Given the description of an element on the screen output the (x, y) to click on. 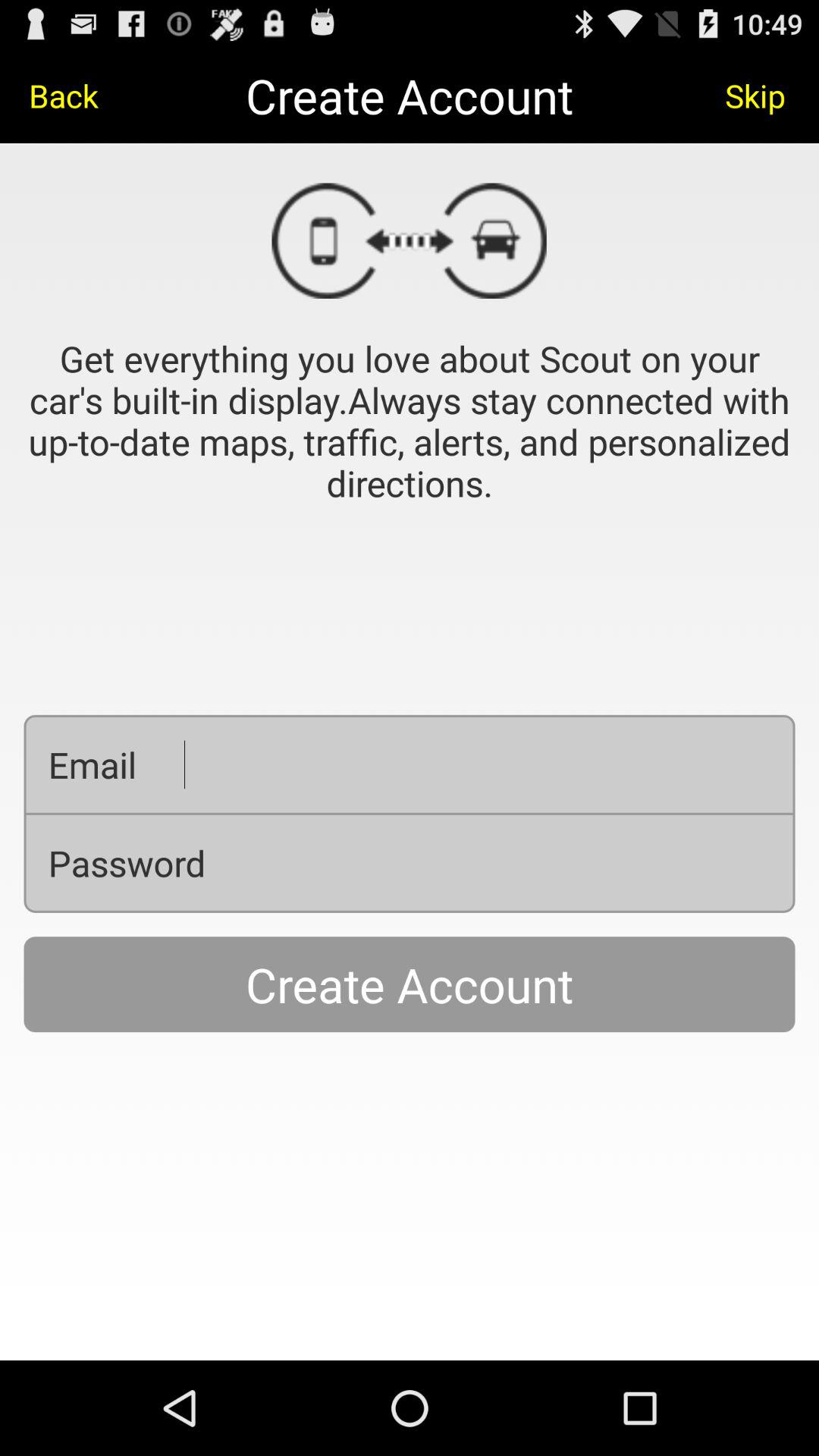
password field (511, 862)
